Given the description of an element on the screen output the (x, y) to click on. 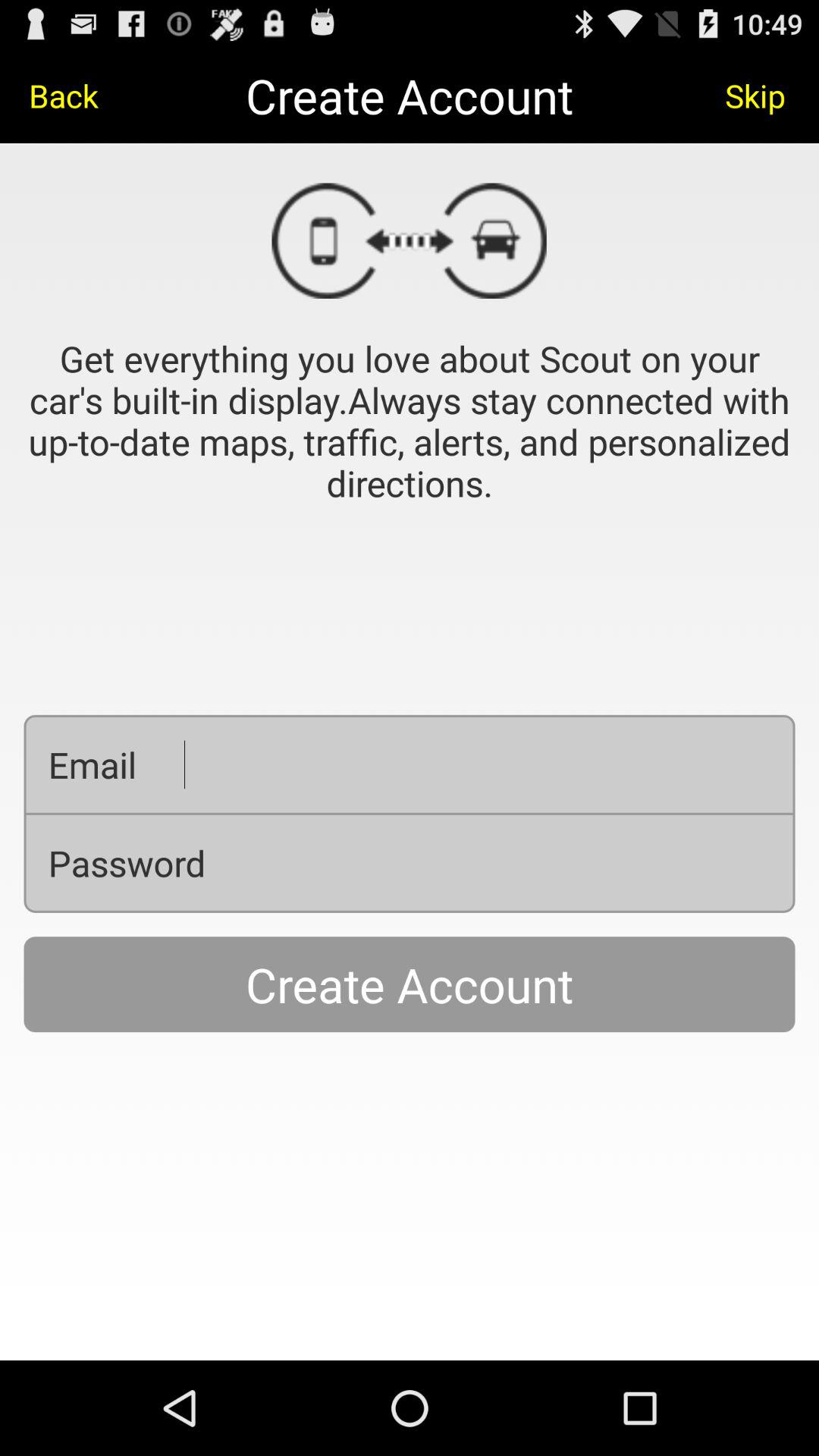
password field (511, 862)
